Given the description of an element on the screen output the (x, y) to click on. 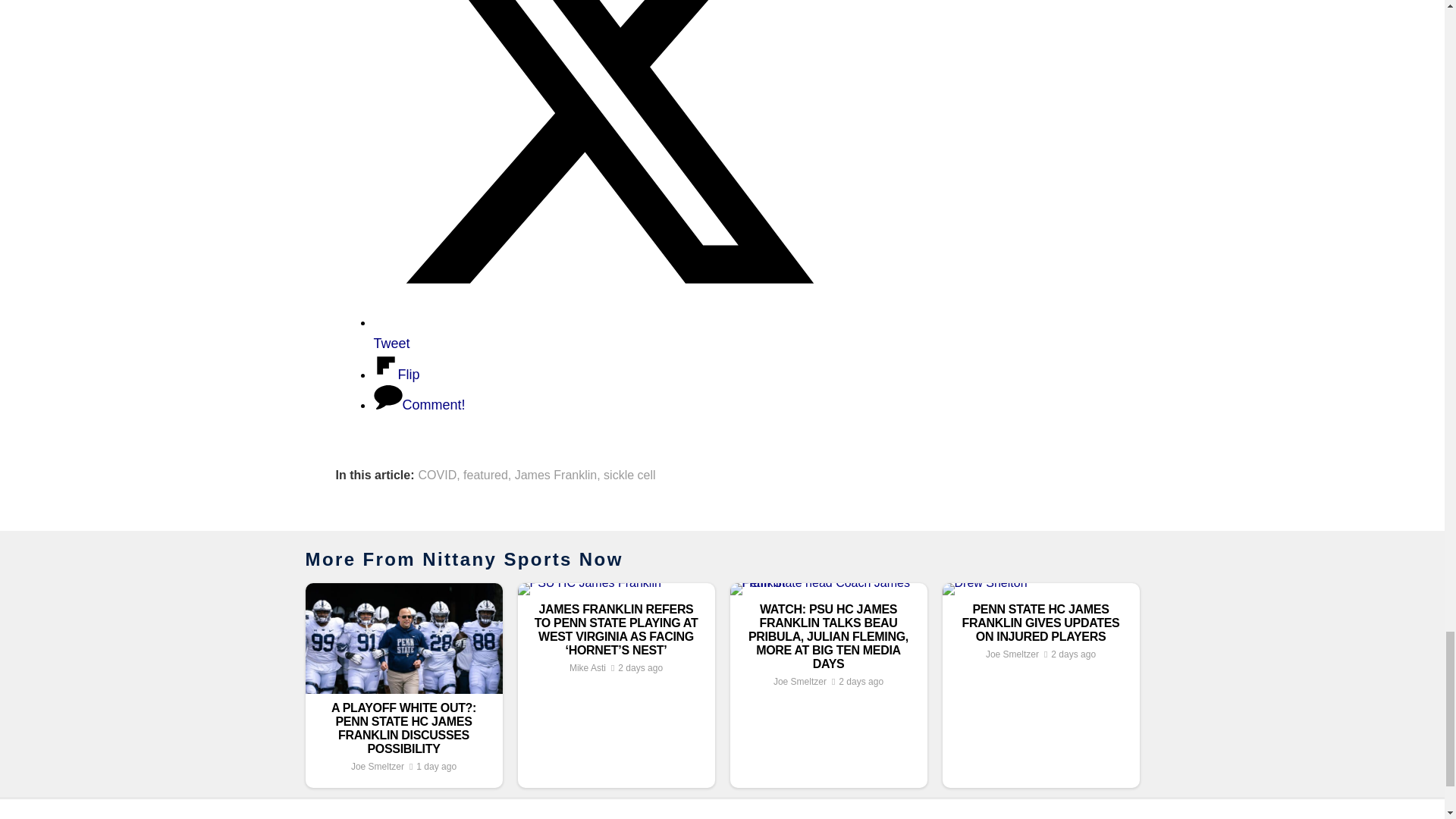
Posts by Joe Smeltzer (377, 766)
Posts by Joe Smeltzer (800, 681)
Share on Comment! (418, 404)
Share on Flip (395, 374)
Posts by Joe Smeltzer (1012, 654)
Share on Tweet (603, 332)
Posts by Mike Asti (587, 667)
